Given the description of an element on the screen output the (x, y) to click on. 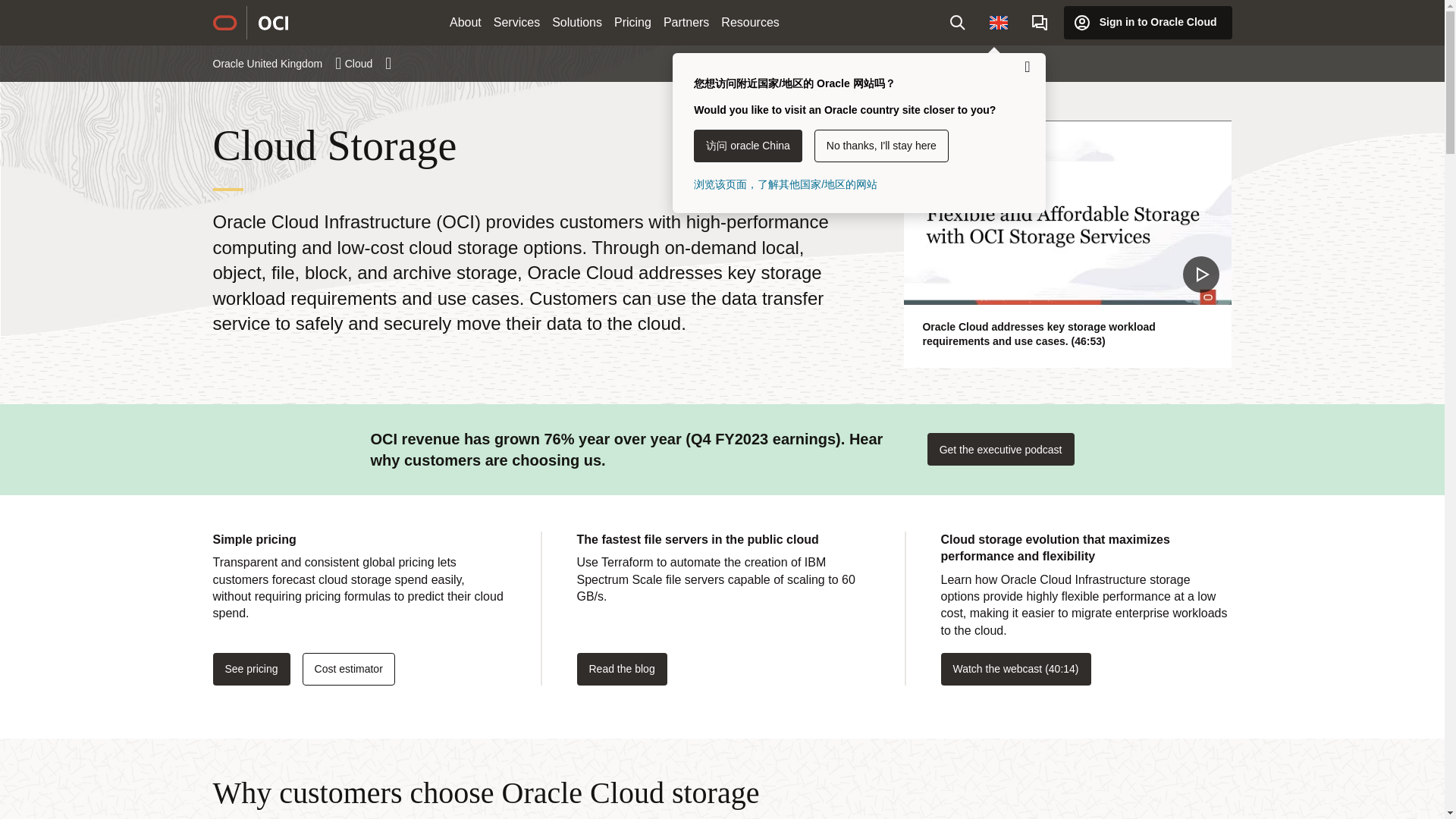
About (465, 22)
Pricing (633, 22)
Sign in to Oracle Cloud (1147, 22)
See pricing (250, 668)
Services (516, 22)
Services (516, 22)
Solutions (577, 22)
Get the executive podcast (1000, 449)
Read the blog (621, 668)
Cloud (368, 63)
Partners (686, 22)
Country (997, 22)
Close (1027, 67)
Solutions (577, 22)
Contact (1040, 22)
